Given the description of an element on the screen output the (x, y) to click on. 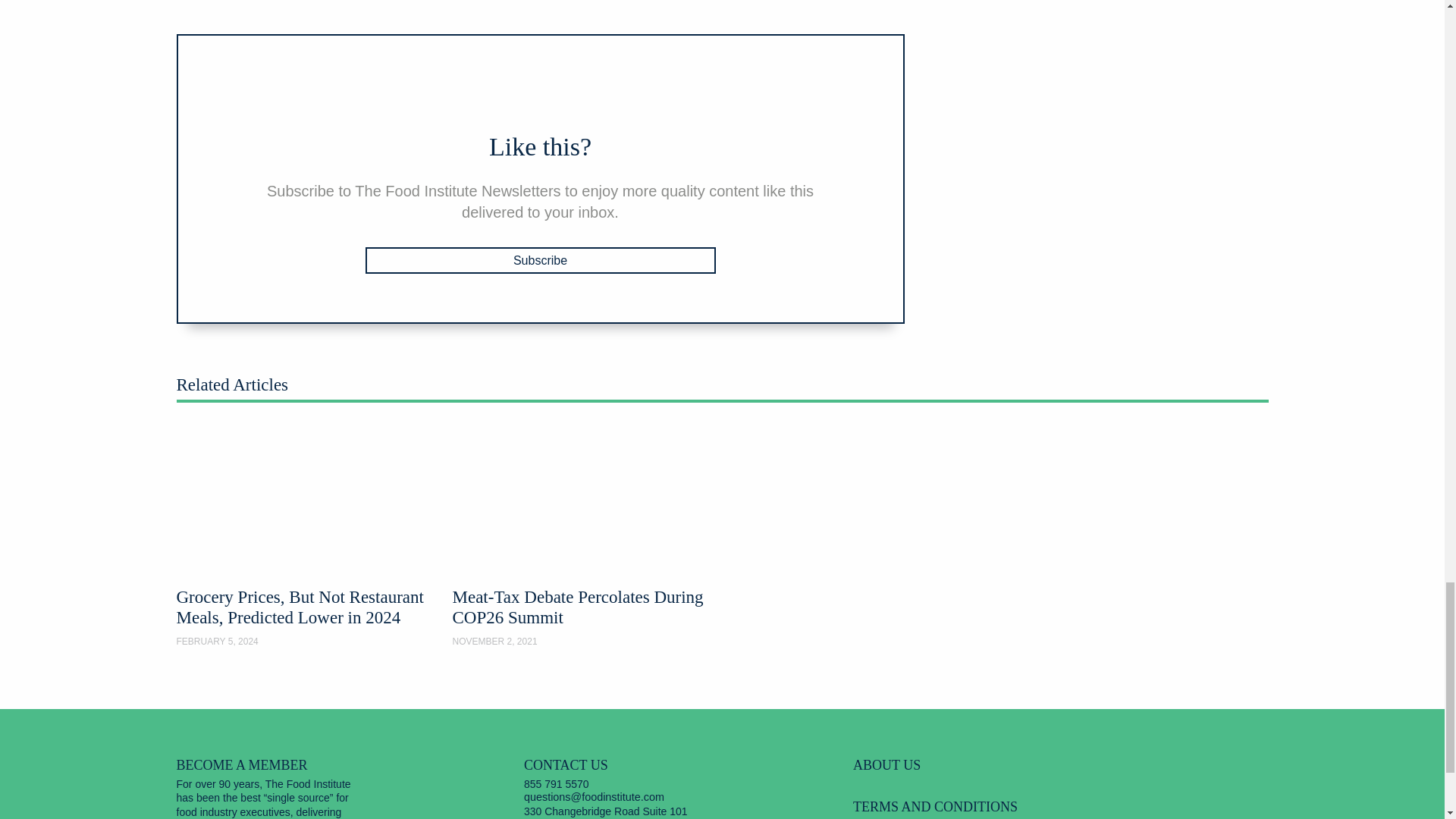
Meat-Tax Debate Percolates During COP26 Summit (583, 537)
